Given the description of an element on the screen output the (x, y) to click on. 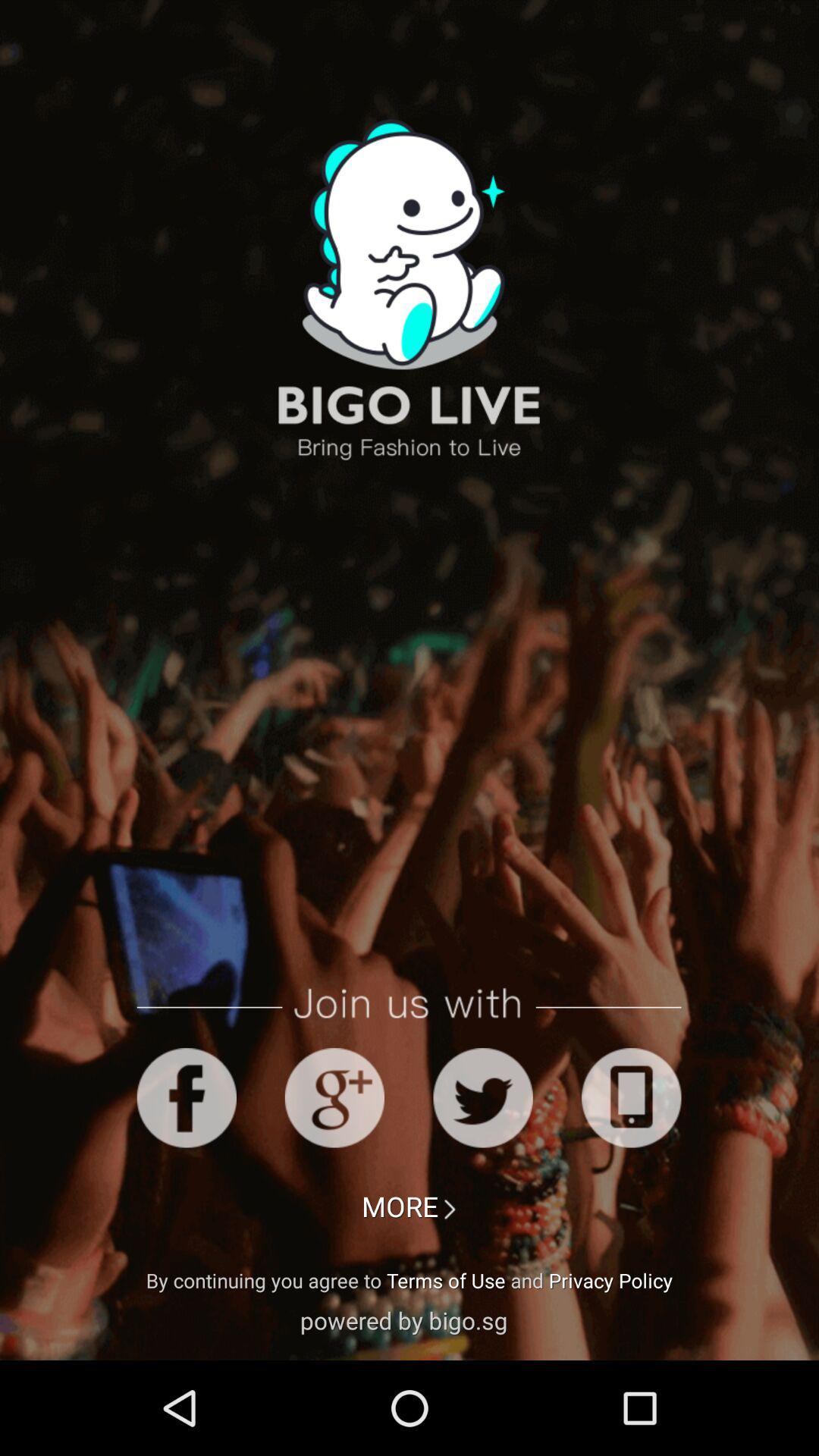
go to facebook (186, 1097)
